Given the description of an element on the screen output the (x, y) to click on. 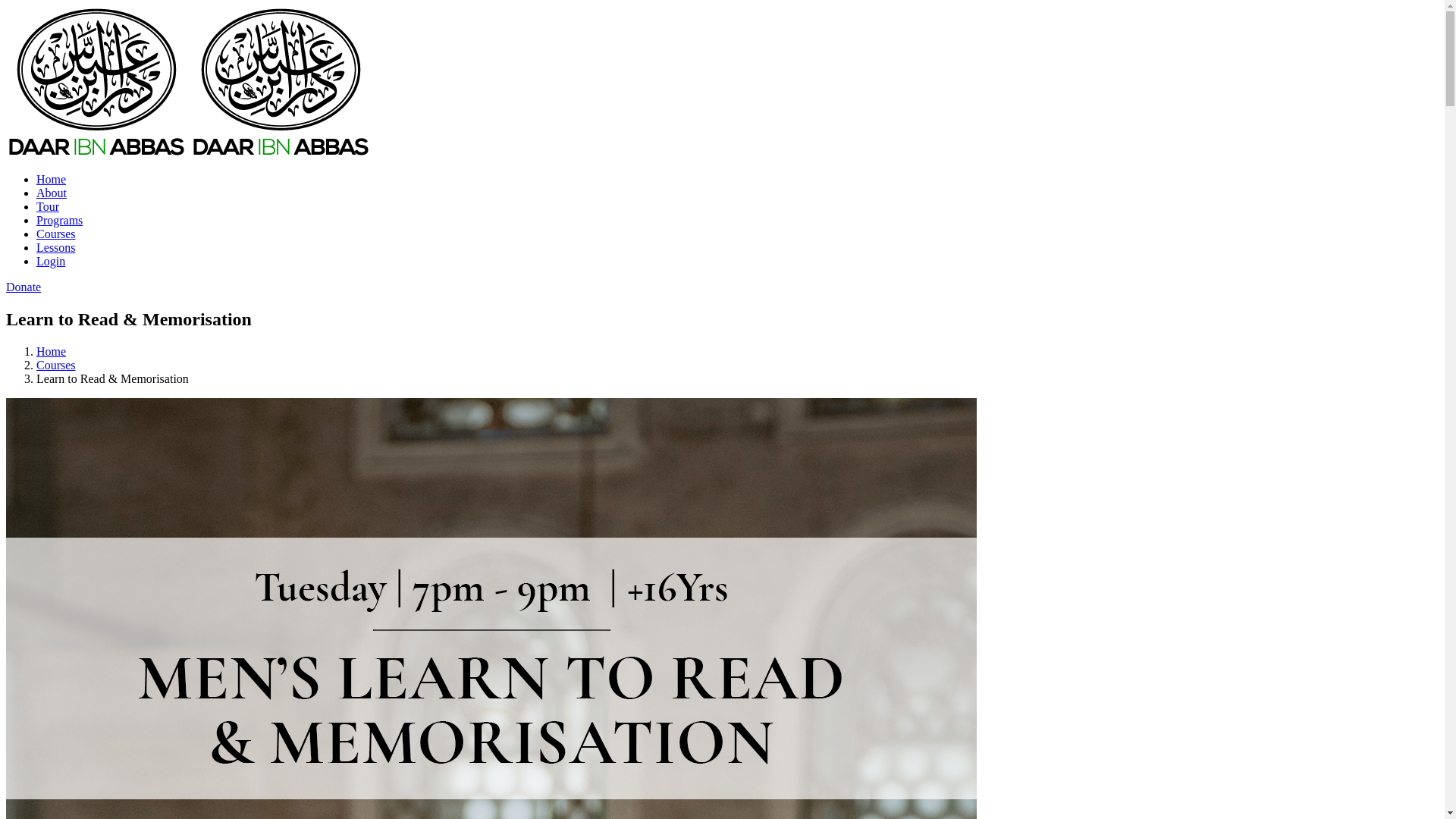
Home Element type: text (50, 351)
Courses Element type: text (55, 364)
Home Element type: text (737, 179)
Lessons Element type: text (737, 247)
About Element type: text (737, 193)
Login Element type: text (737, 261)
Donate Element type: text (23, 286)
Programs Element type: text (737, 220)
Courses Element type: text (737, 234)
Tour Element type: text (737, 206)
